Given the description of an element on the screen output the (x, y) to click on. 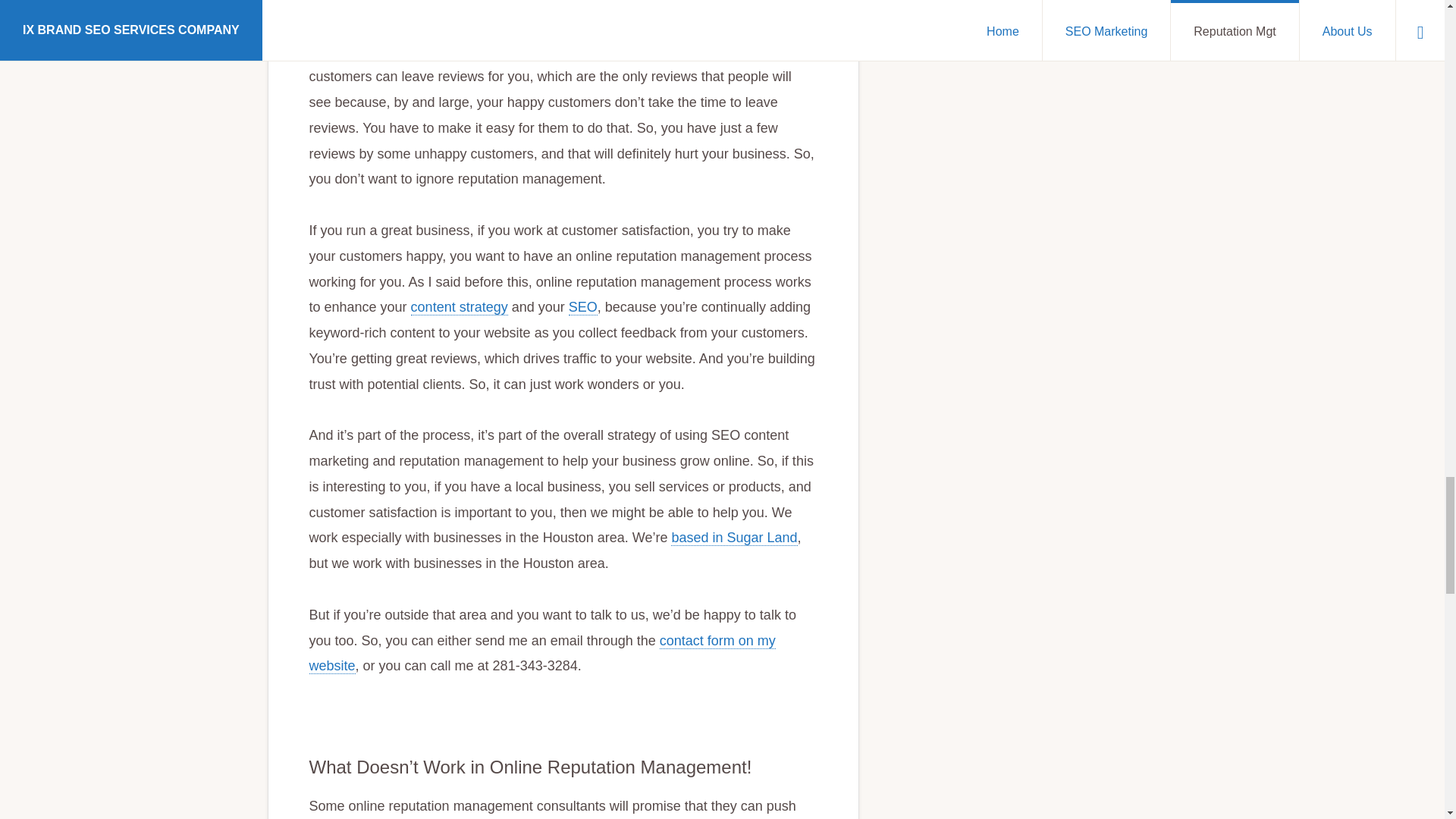
based in Sugar Land (733, 537)
contact form on my website (542, 653)
content strategy (459, 307)
SEO (582, 307)
